Given the description of an element on the screen output the (x, y) to click on. 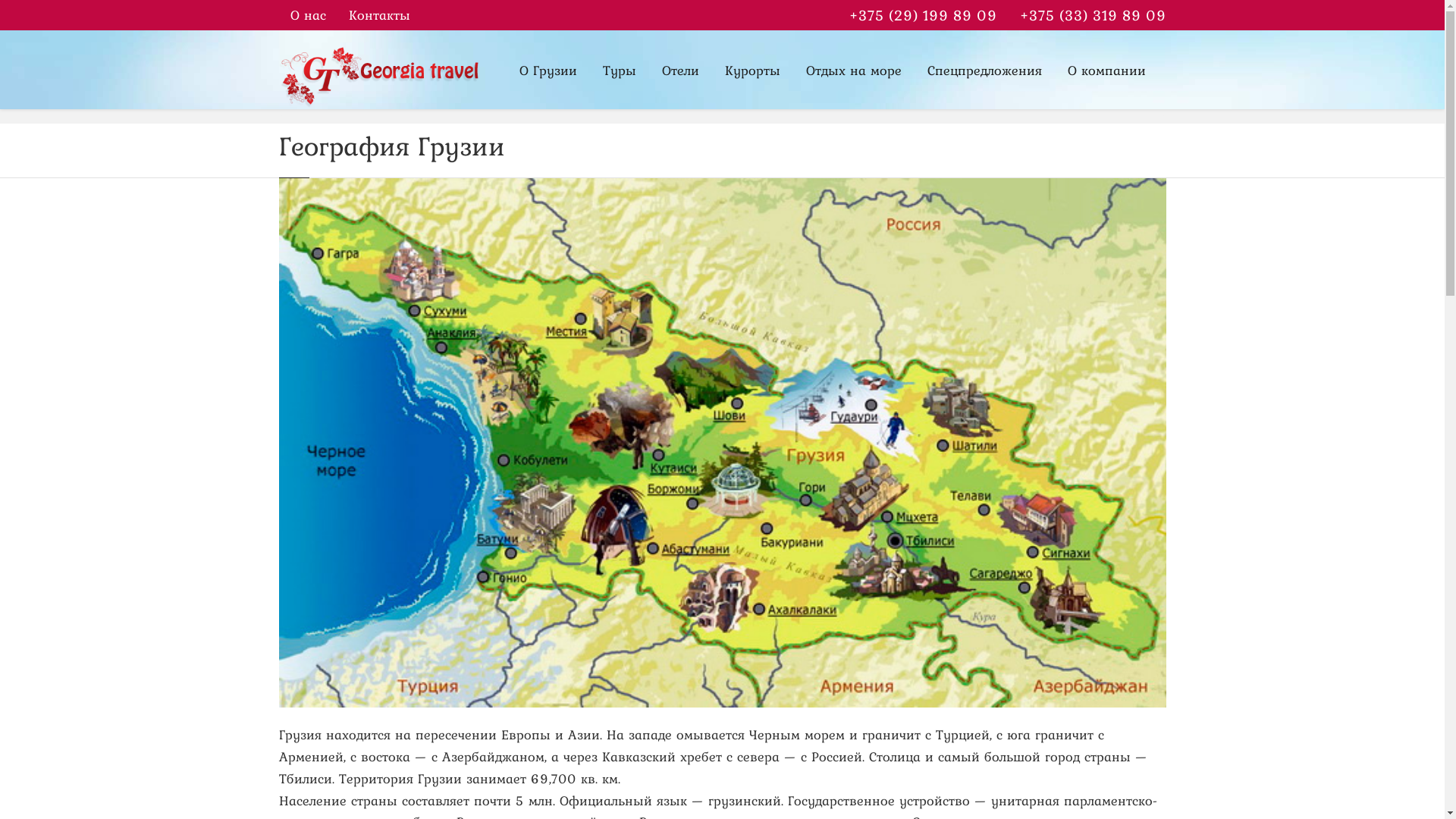
+375 (33) 319 89 09 Element type: text (1092, 15)
+375 (29) 199 89 09 Element type: text (922, 15)
